Given the description of an element on the screen output the (x, y) to click on. 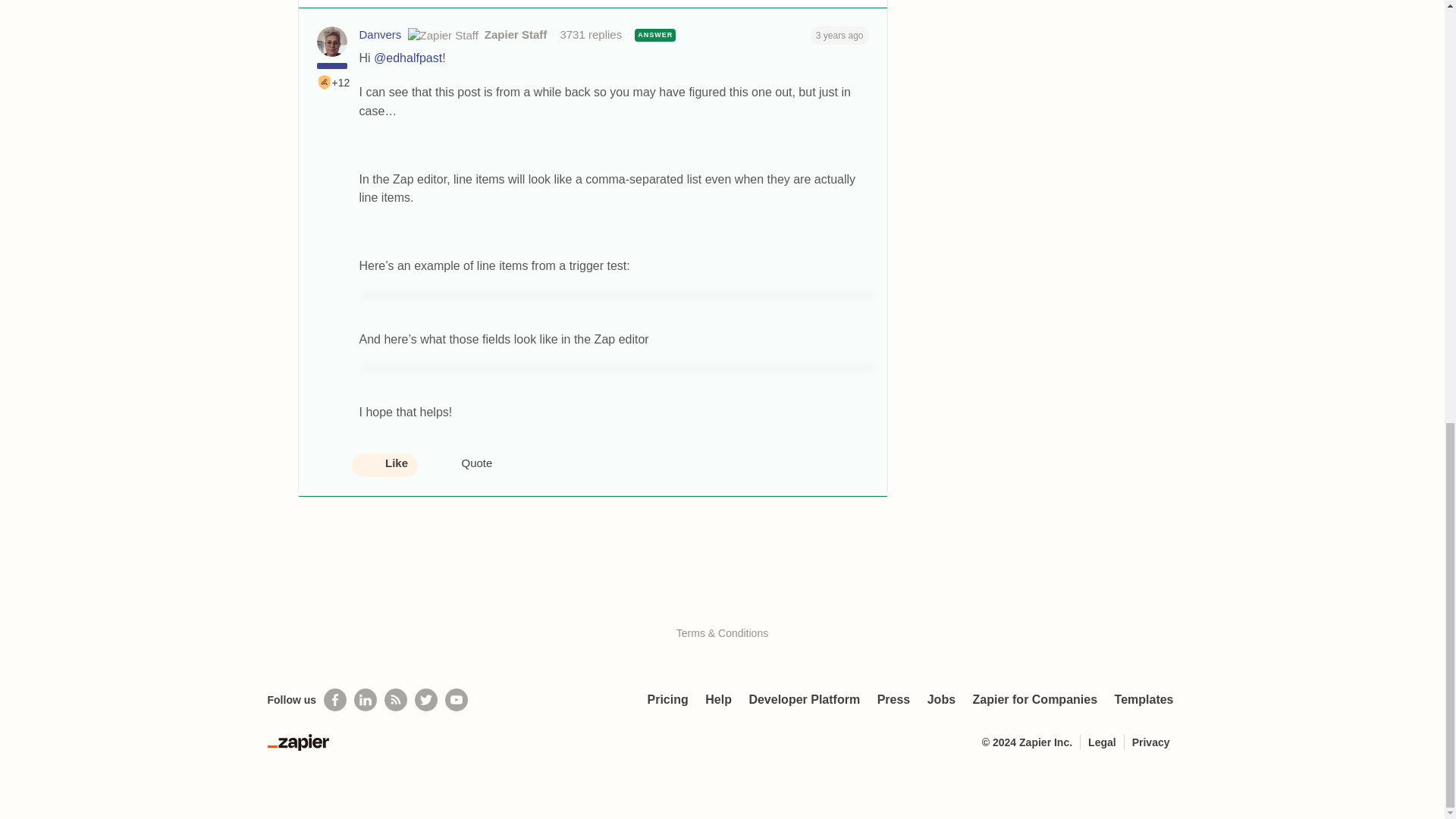
Subscribe to our blog (395, 699)
First Best Answer (324, 82)
Danvers (380, 35)
Follow us on Facebook (334, 699)
Follow us on LinkedIn (365, 699)
See helpful Zapier videos on Youtube (456, 699)
Visit Gainsight.com (722, 601)
